Given the description of an element on the screen output the (x, y) to click on. 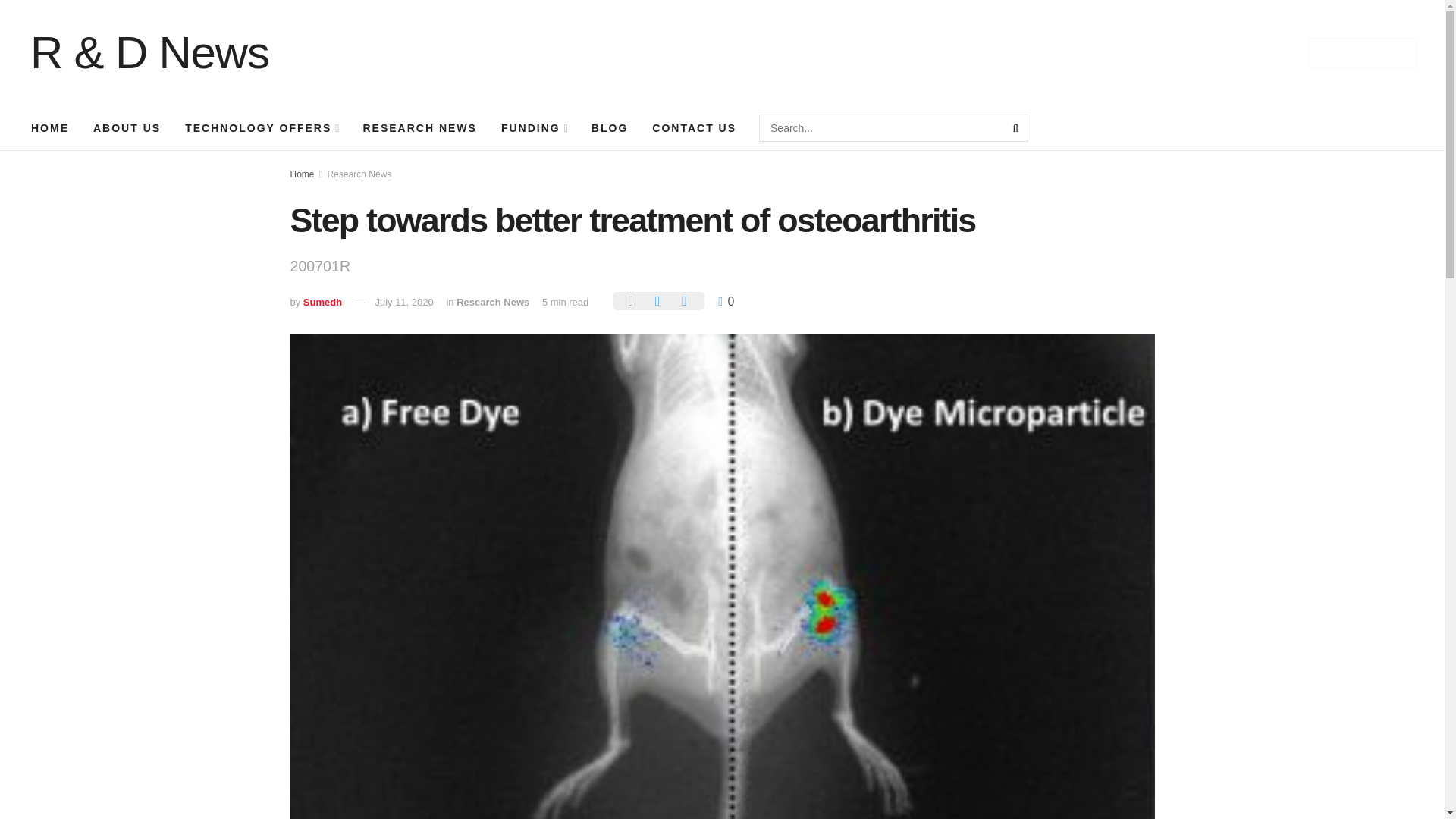
TECHNOLOGY OFFERS (261, 127)
Home (301, 173)
0 (725, 300)
CONTACT US (694, 127)
HOME (49, 127)
July 11, 2020 (403, 301)
FUNDING (534, 127)
RESEARCH NEWS (418, 127)
Sumedh (322, 301)
BLOG (609, 127)
